Given the description of an element on the screen output the (x, y) to click on. 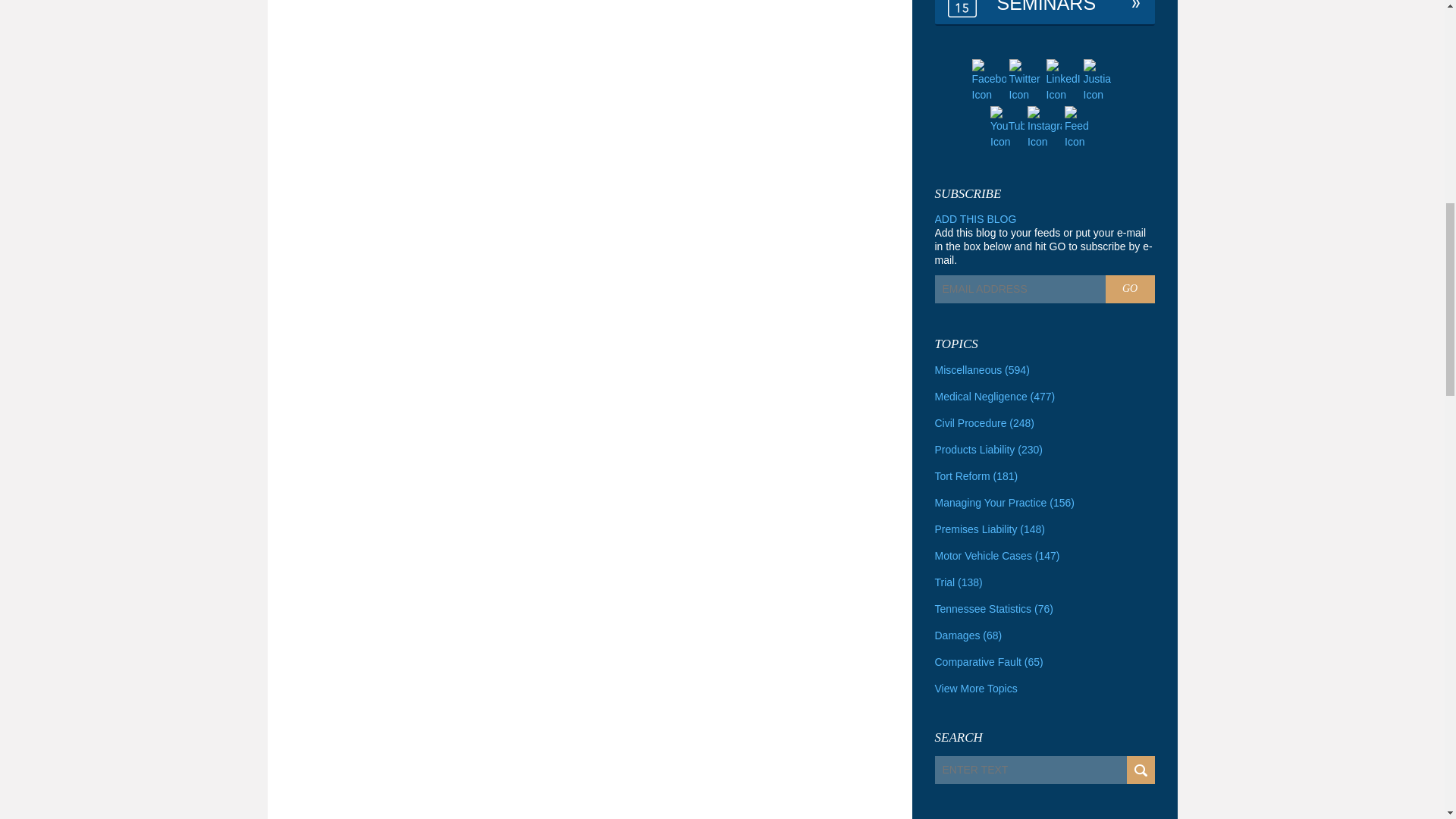
SEMINARS (1044, 12)
ADD THIS BLOG (975, 218)
GO (1129, 289)
